Given the description of an element on the screen output the (x, y) to click on. 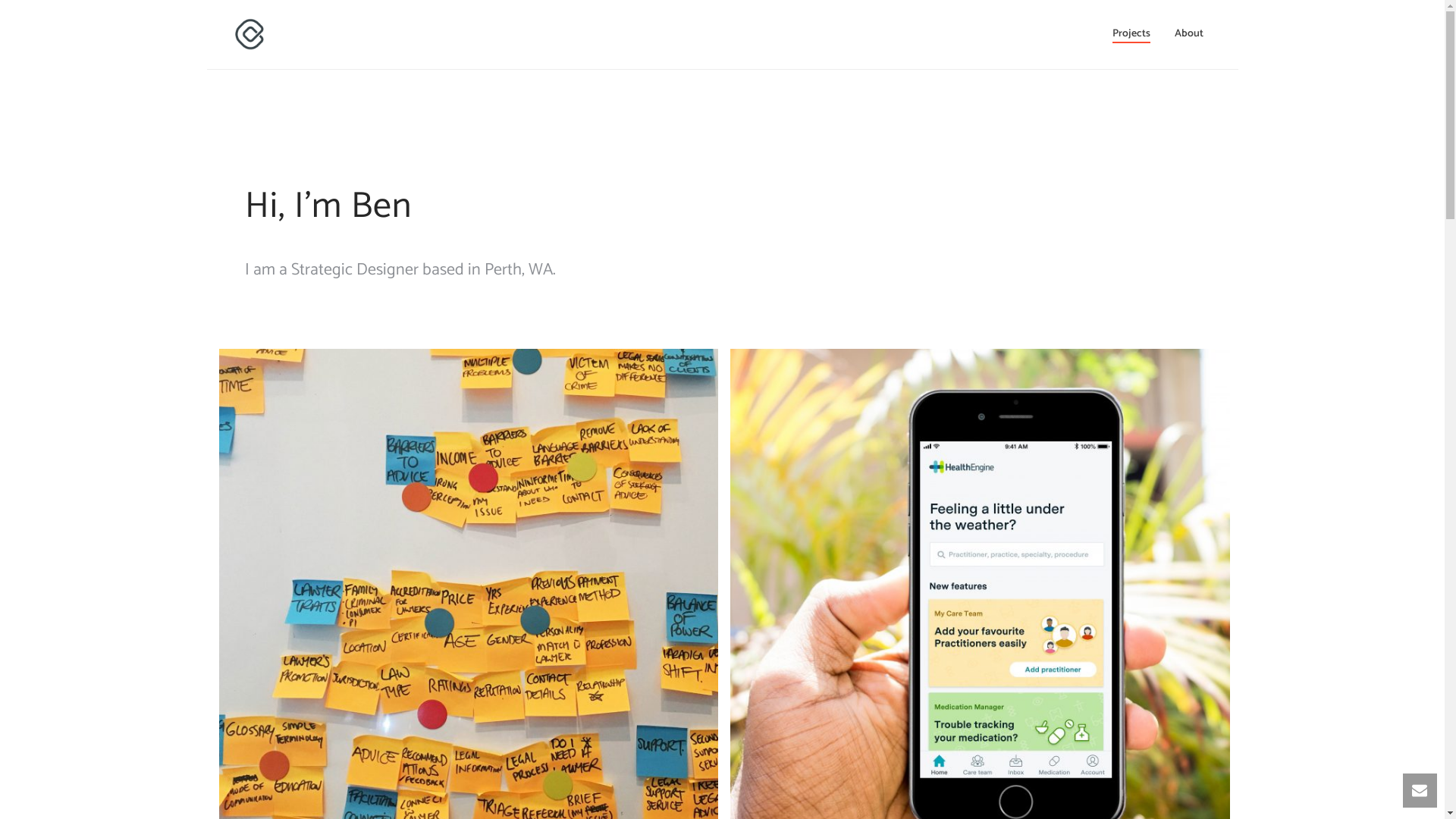
HealthEngine Care Team Element type: hover (950, 568)
Projects Element type: text (1130, 34)
Simple, intuitive user-centric experiences Element type: hover (248, 33)
Udaly online marketplace Element type: hover (438, 568)
About Element type: text (1187, 34)
